Given the description of an element on the screen output the (x, y) to click on. 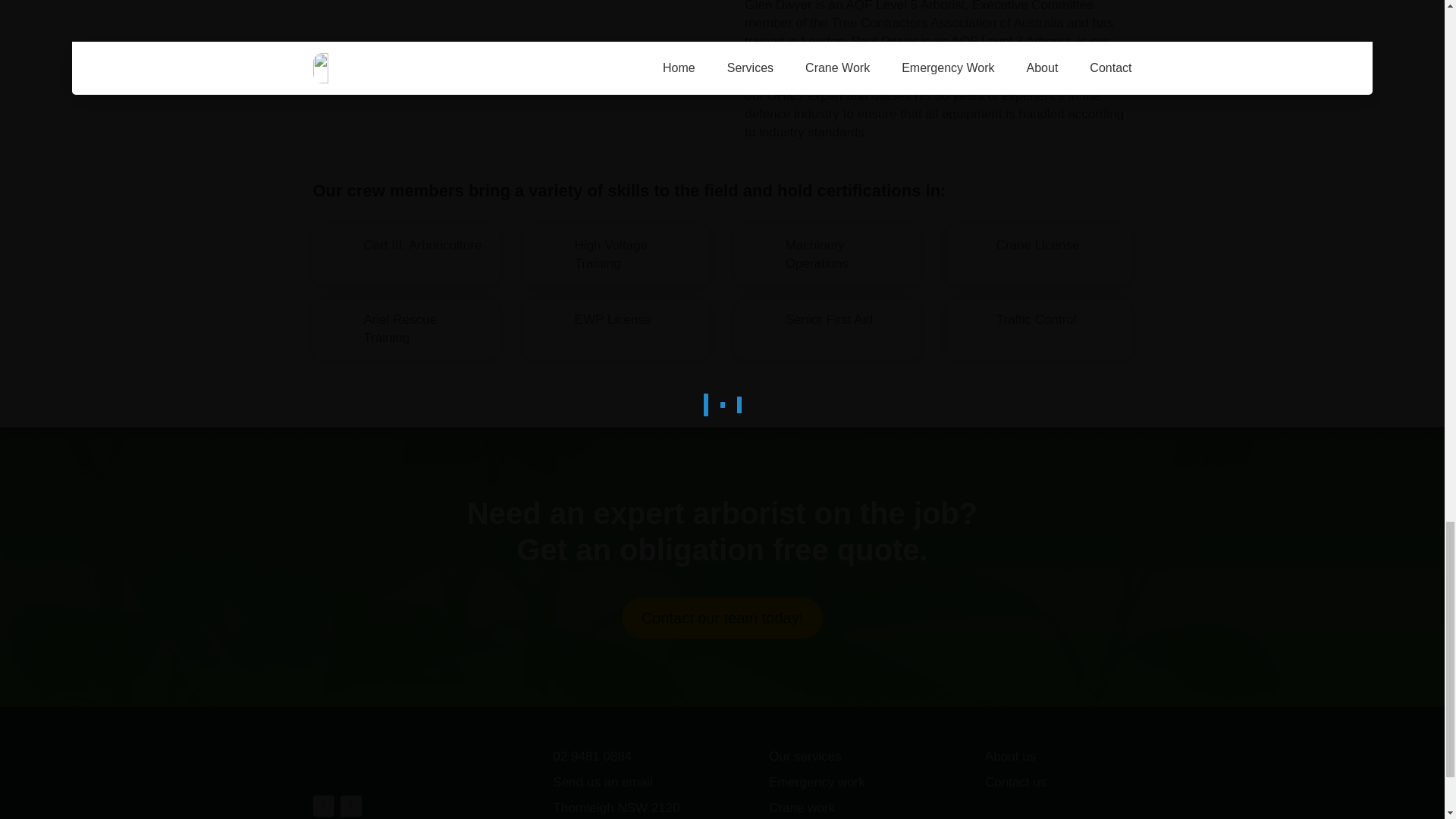
Follow on LinkedIn (350, 805)
Follow on Facebook (323, 805)
Contact our team today! (721, 617)
